Given the description of an element on the screen output the (x, y) to click on. 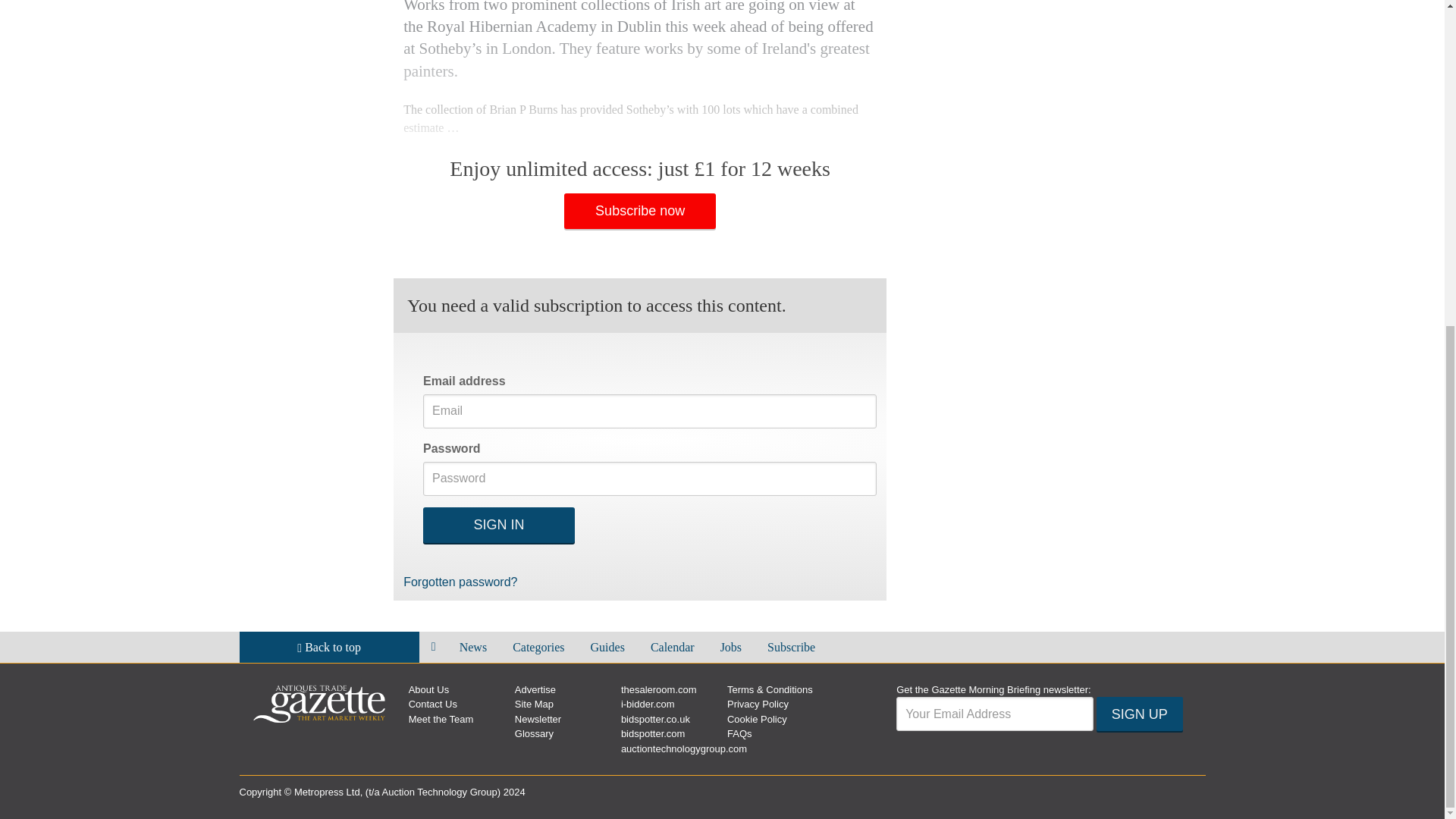
Email address (994, 713)
